Given the description of an element on the screen output the (x, y) to click on. 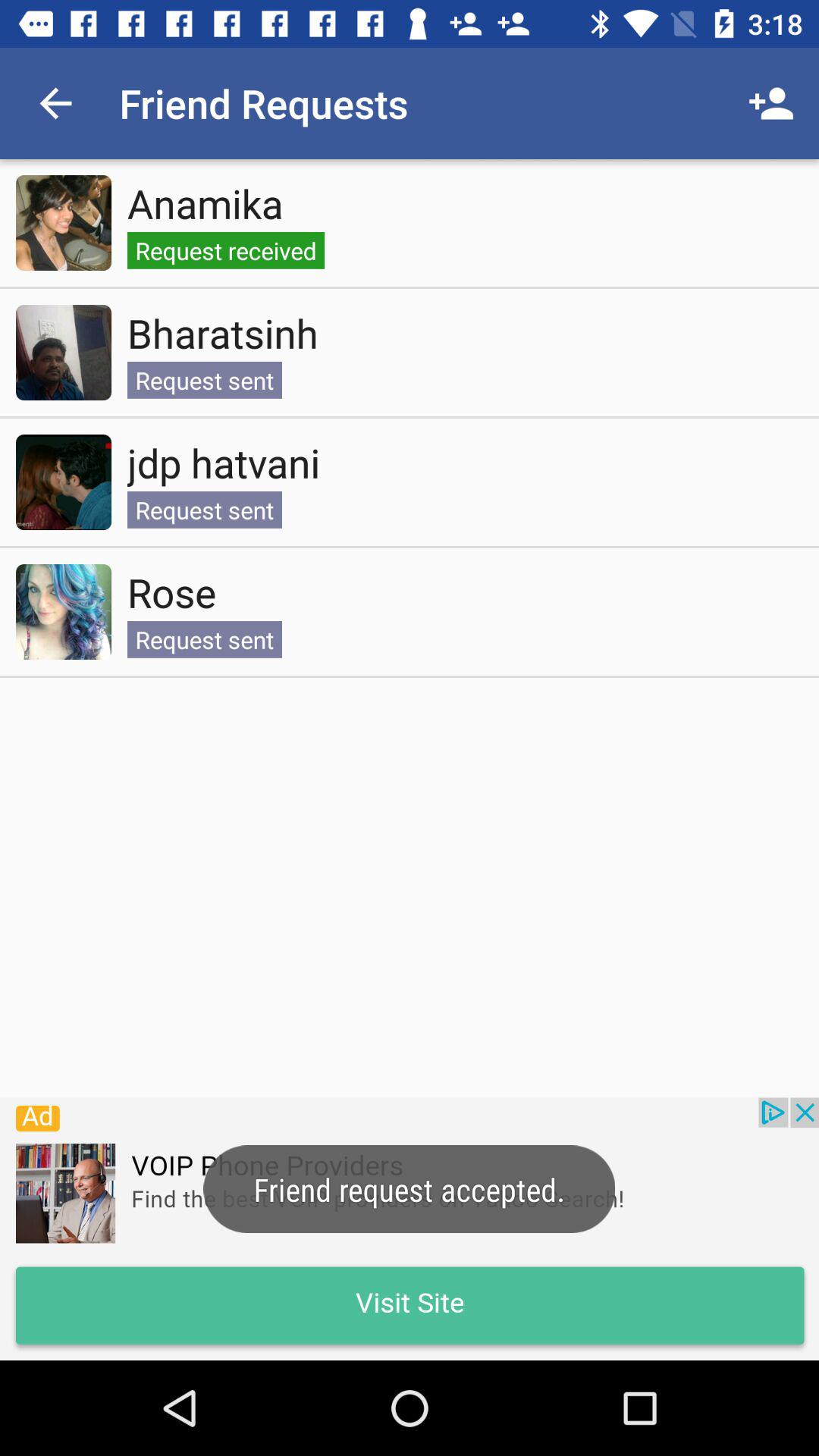
advertisement (409, 1228)
